Given the description of an element on the screen output the (x, y) to click on. 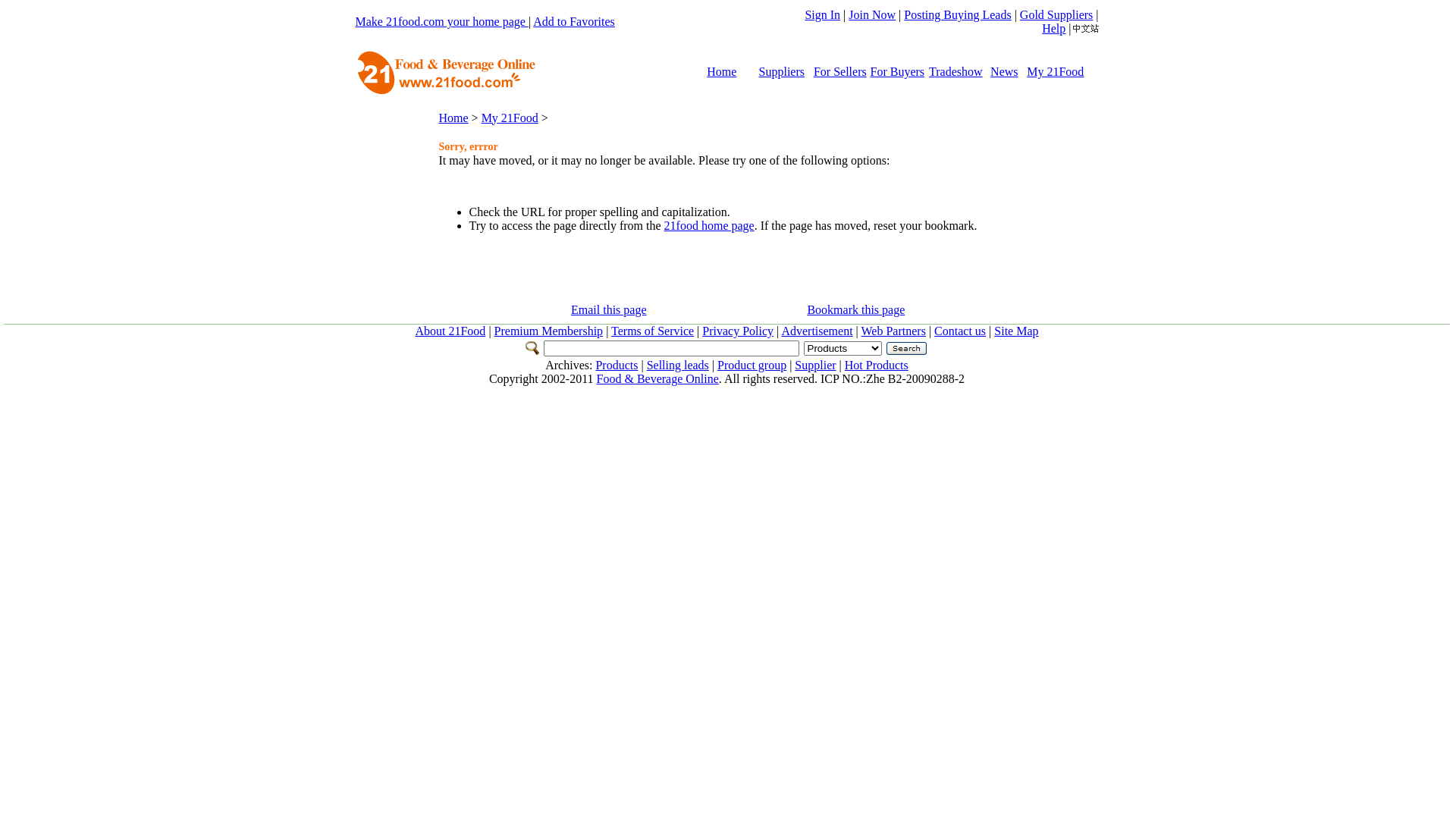
Products Element type: text (616, 364)
Gold Suppliers Element type: text (1055, 14)
Sign In Element type: text (822, 14)
Posting Buying Leads Element type: text (956, 14)
Selling leads Element type: text (677, 364)
Bookmark this page Element type: text (855, 309)
Home Element type: text (452, 116)
Web Partners Element type: text (893, 330)
About 21Food Element type: text (449, 330)
My 21Food Element type: text (509, 116)
My 21Food Element type: text (1054, 71)
Make 21food.com your home page Element type: text (440, 21)
Site Map Element type: text (1016, 330)
Privacy Policy Element type: text (737, 330)
News Element type: text (1003, 71)
Tradeshow Element type: text (955, 71)
For Buyers Element type: text (897, 71)
Supplier Element type: text (814, 364)
Home Element type: text (721, 71)
Advertisement Element type: text (816, 330)
21food home page Element type: text (709, 225)
Email this page Element type: text (608, 309)
Add to Favorites Element type: text (574, 21)
Join Now Element type: text (871, 14)
Terms of Service Element type: text (652, 330)
Contact us Element type: text (959, 330)
For Sellers Element type: text (839, 71)
Hot Products Element type: text (876, 364)
Help Element type: text (1053, 27)
Premium Membership Element type: text (548, 330)
Product group Element type: text (751, 364)
Food & Beverage Online Element type: text (657, 378)
Suppliers Element type: text (781, 71)
